Given the description of an element on the screen output the (x, y) to click on. 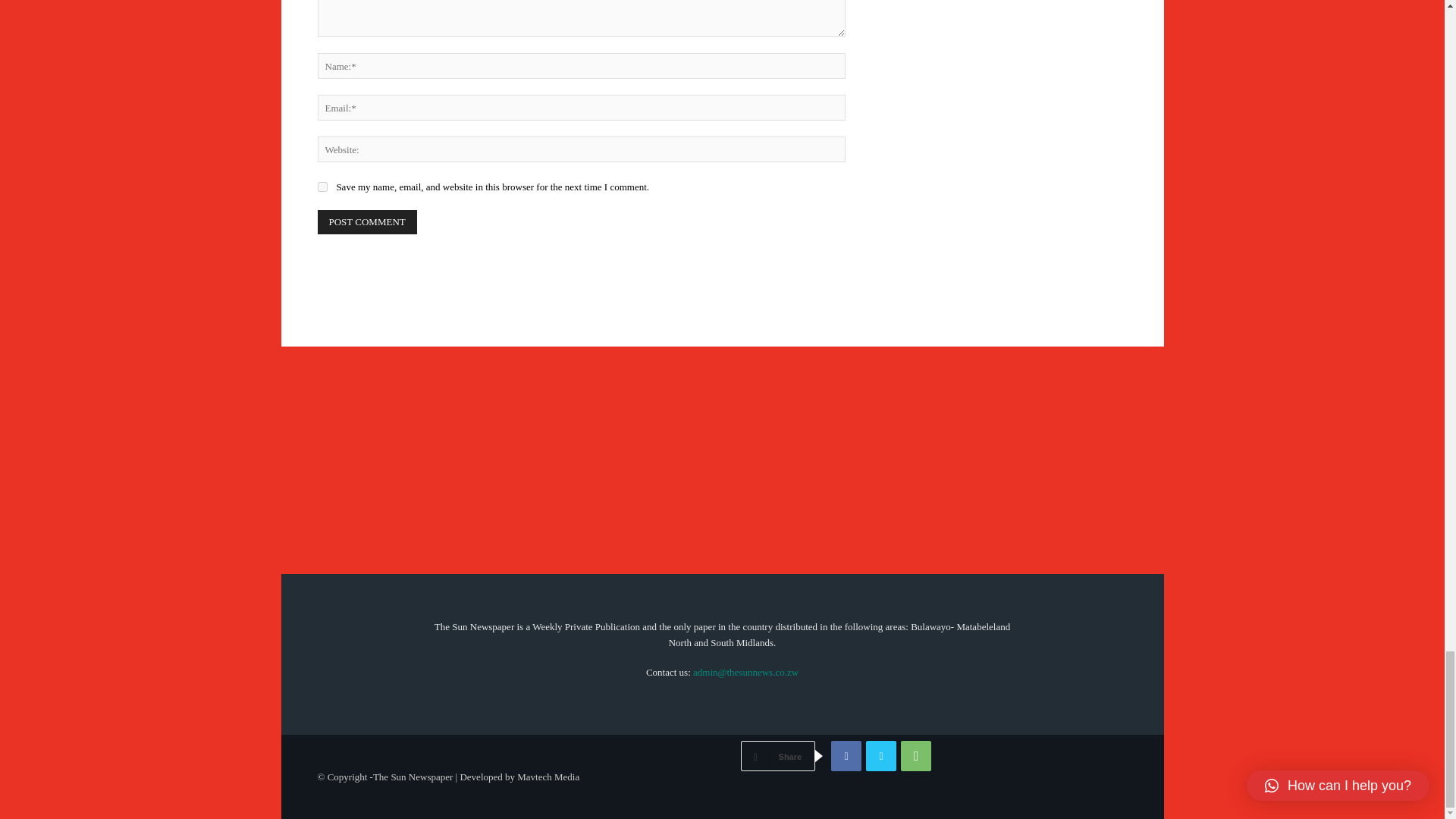
Post Comment (366, 221)
yes (321, 186)
